Given the description of an element on the screen output the (x, y) to click on. 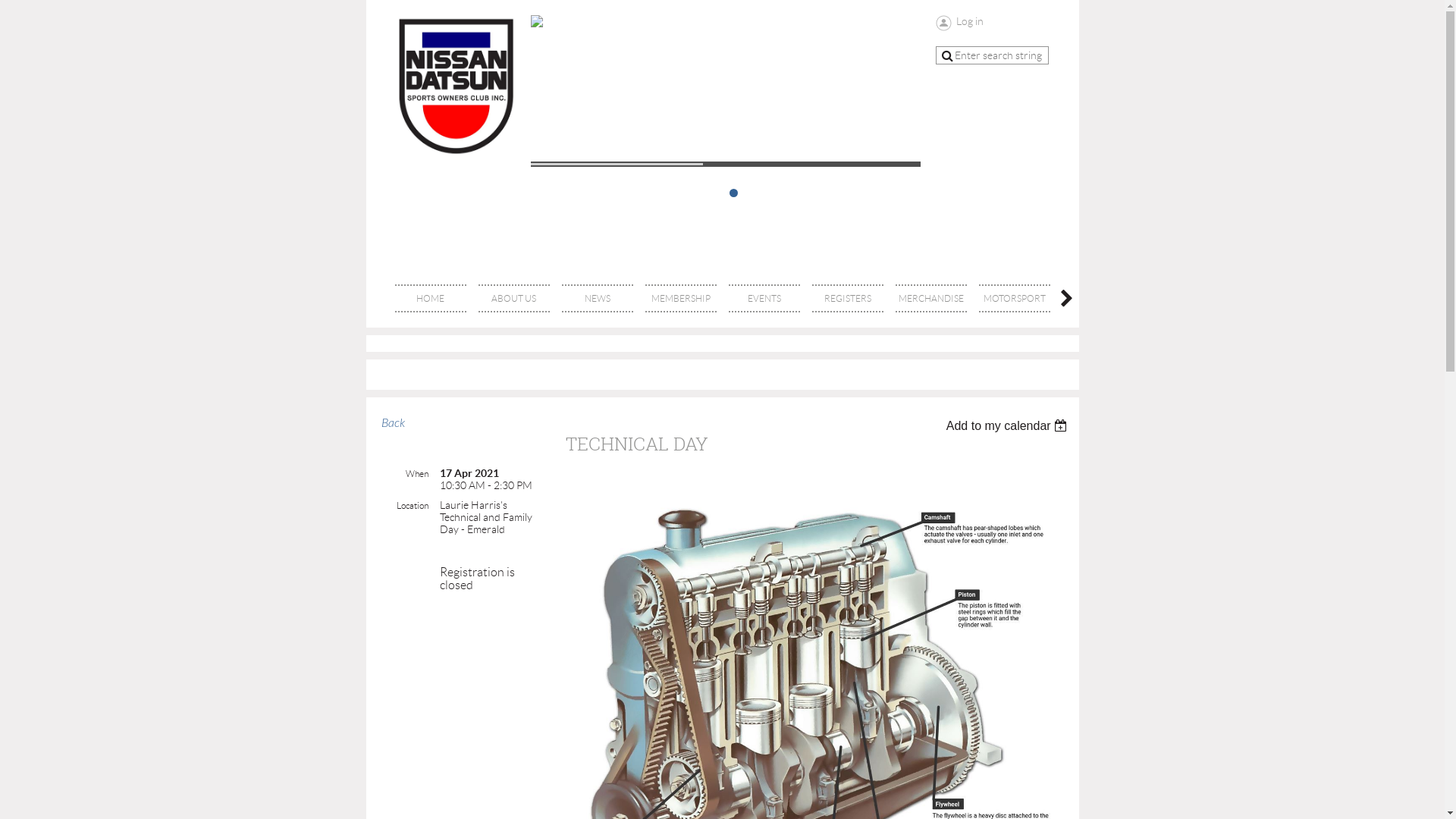
EVENTS Element type: text (763, 298)
ABOUT US Element type: text (513, 298)
MOTORSPORT Element type: text (1013, 298)
Back Element type: text (392, 422)
MERCHANDISE Element type: text (930, 298)
HOME Element type: text (429, 298)
Log in Element type: text (959, 23)
NEWS Element type: text (596, 298)
MEMBERSHIP Element type: text (679, 298)
REGISTERS Element type: text (846, 298)
